Given the description of an element on the screen output the (x, y) to click on. 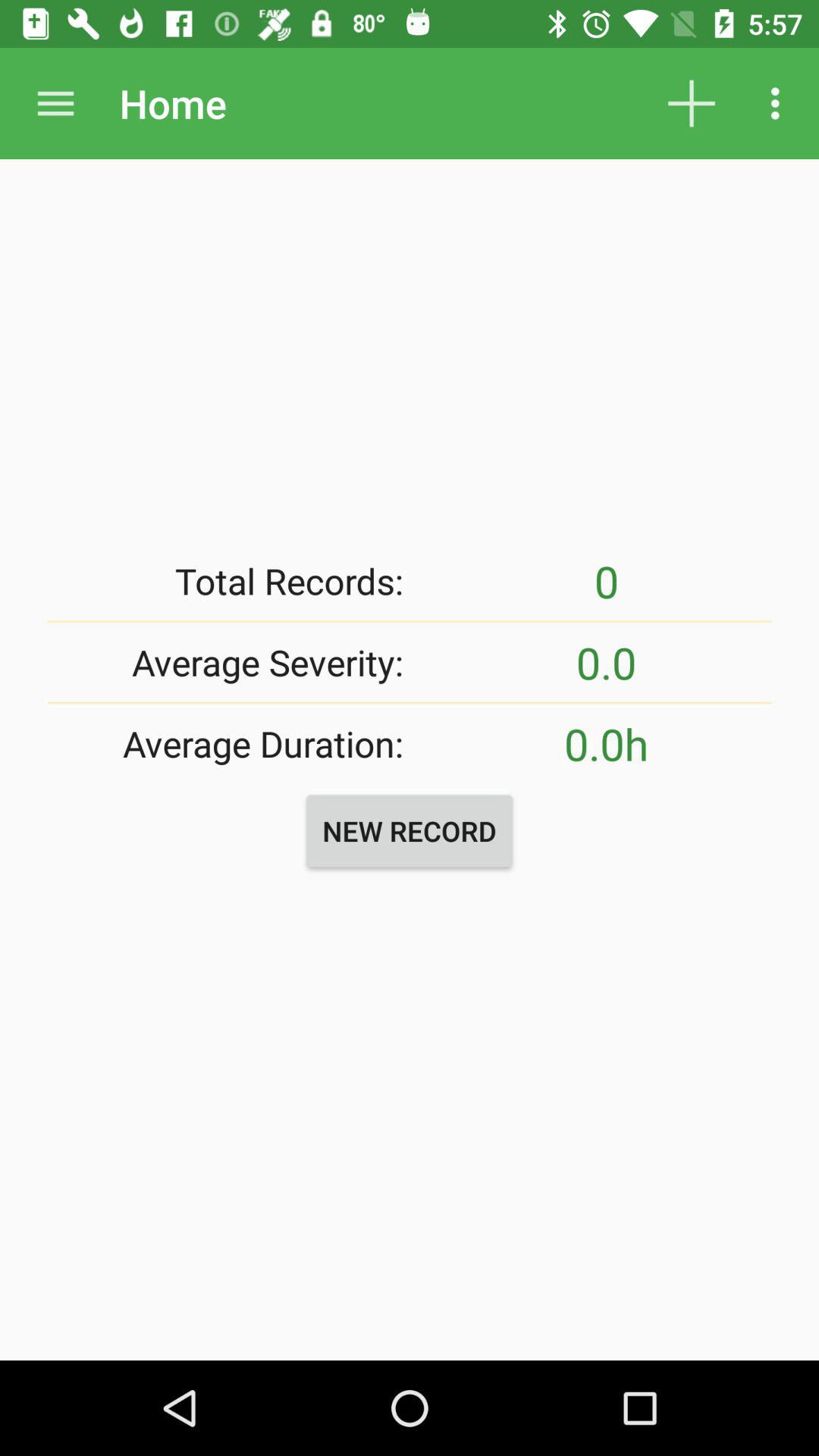
option bar (55, 103)
